Given the description of an element on the screen output the (x, y) to click on. 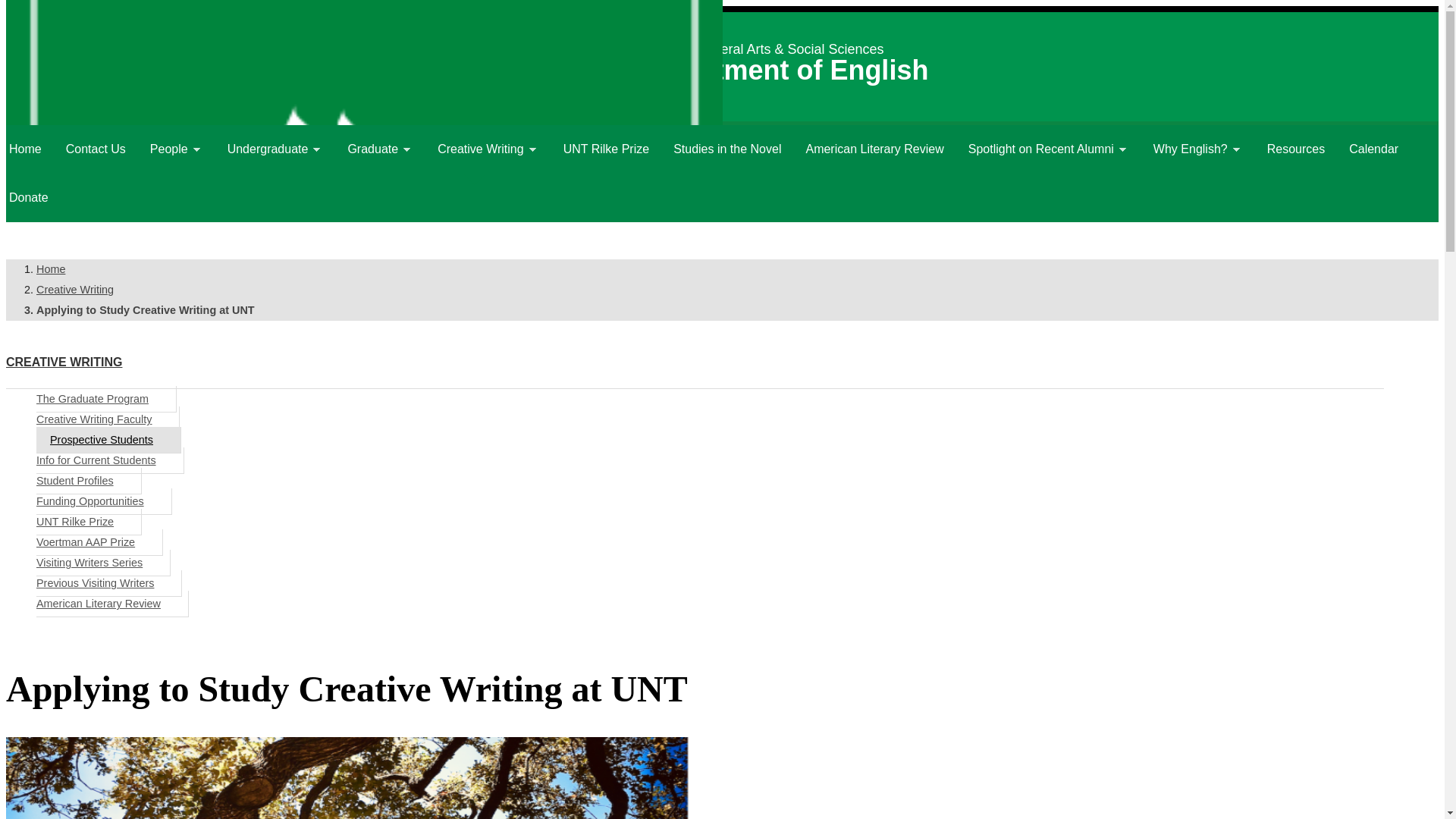
Information for Current Creative Writing Students (110, 460)
Applying to Study Creative Writing at UNT (108, 439)
Creative Writing at UNT (74, 289)
Previous Visiting Writers (109, 583)
Go to the UNT Website (574, 66)
Home (782, 69)
Canvas (103, 30)
The UNT Rilke Prize (88, 521)
Voertman Academy of American Poets Prize (99, 542)
MyUNT (51, 30)
Funding Opportunities for Creative Writers (103, 501)
Department of English (782, 69)
American Literary Review (112, 603)
